Given the description of an element on the screen output the (x, y) to click on. 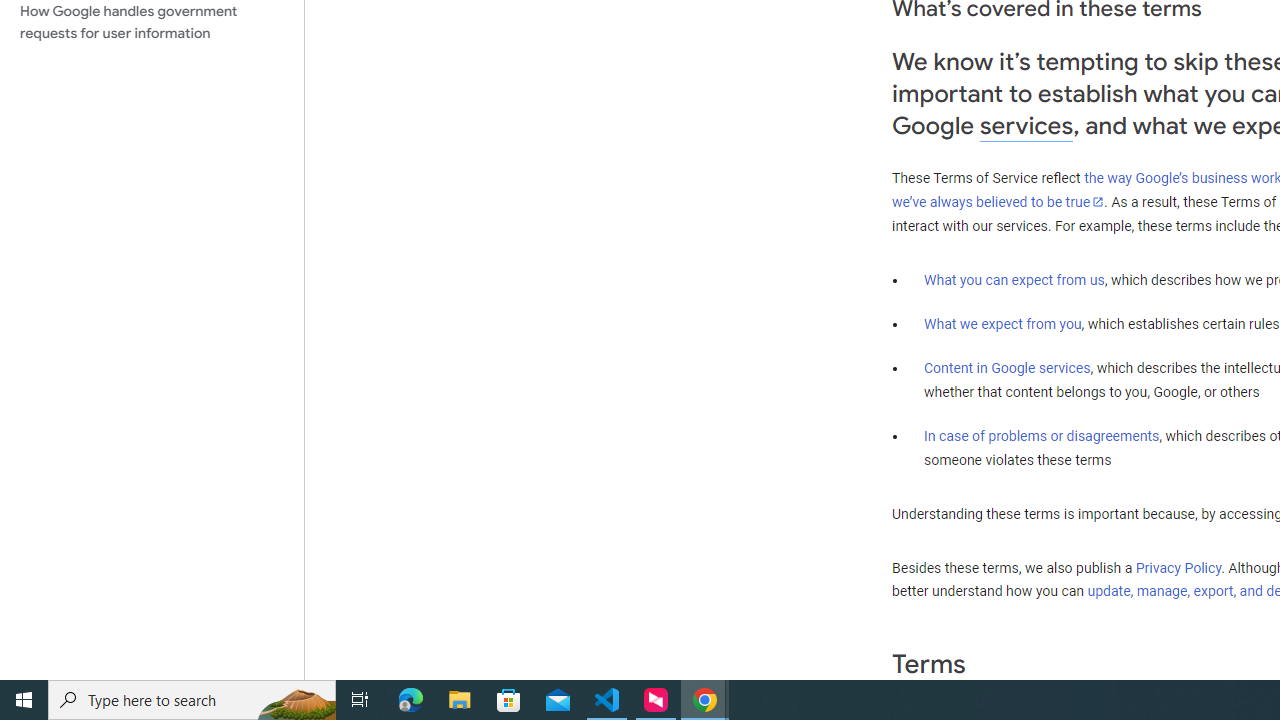
What we expect from you (1002, 323)
services (1026, 125)
What you can expect from us (1014, 279)
In case of problems or disagreements (1041, 435)
Content in Google services (1007, 368)
